Given the description of an element on the screen output the (x, y) to click on. 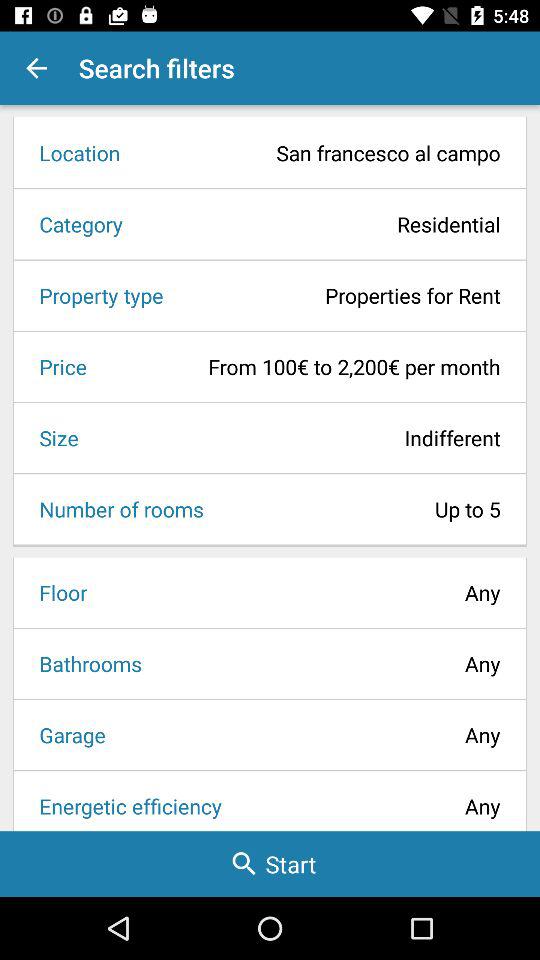
tap the item to the left of from 100 to icon (56, 366)
